Given the description of an element on the screen output the (x, y) to click on. 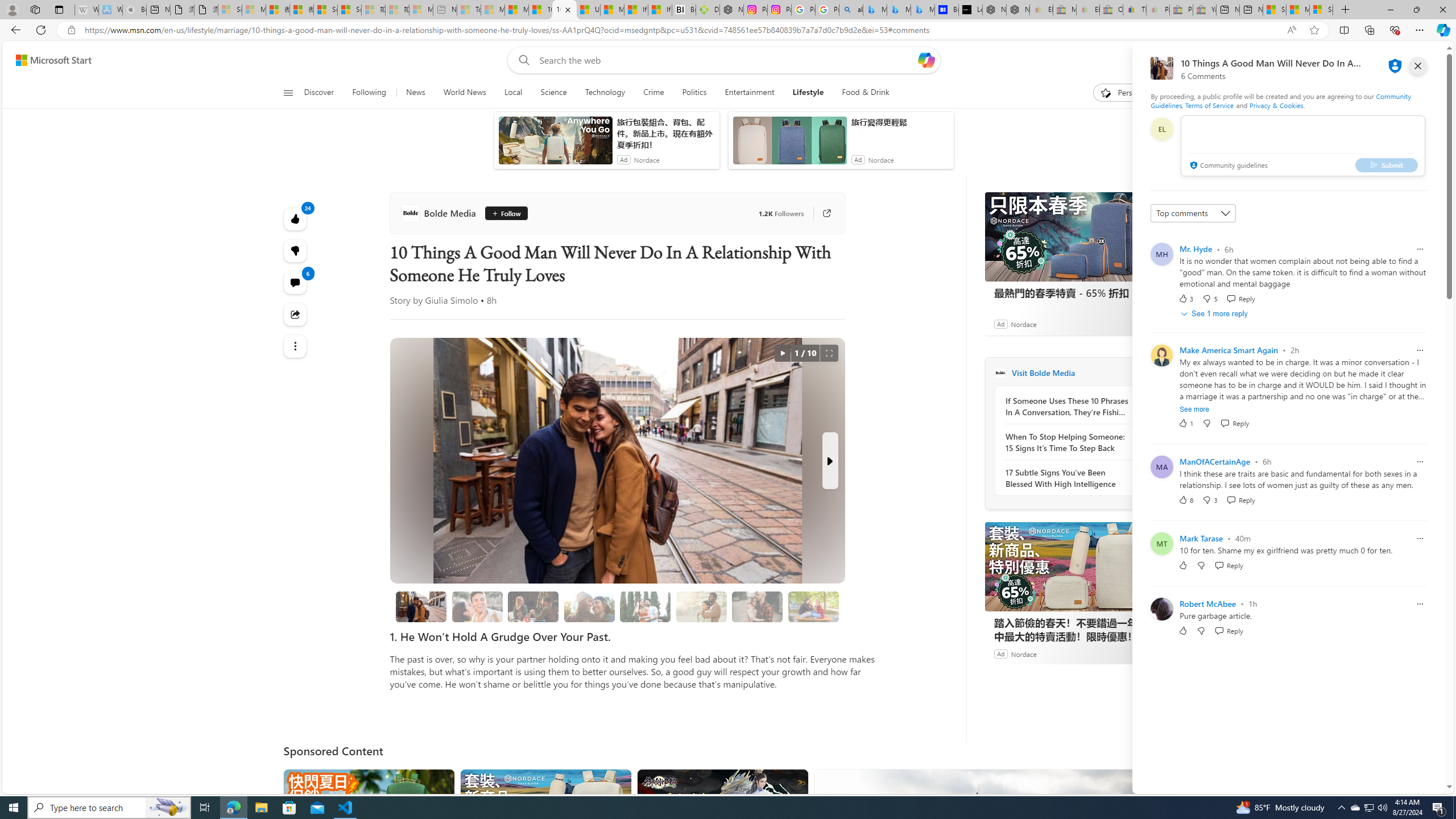
Entertainment (749, 92)
Microsoft Start (53, 60)
autorotate button (782, 352)
Politics (694, 92)
Sign in to your Microsoft account (1321, 9)
See more (1194, 409)
Skip to footer (46, 59)
Food & Drink (865, 92)
Full screen (828, 352)
Technology (604, 92)
Enter your search term (726, 59)
